Given the description of an element on the screen output the (x, y) to click on. 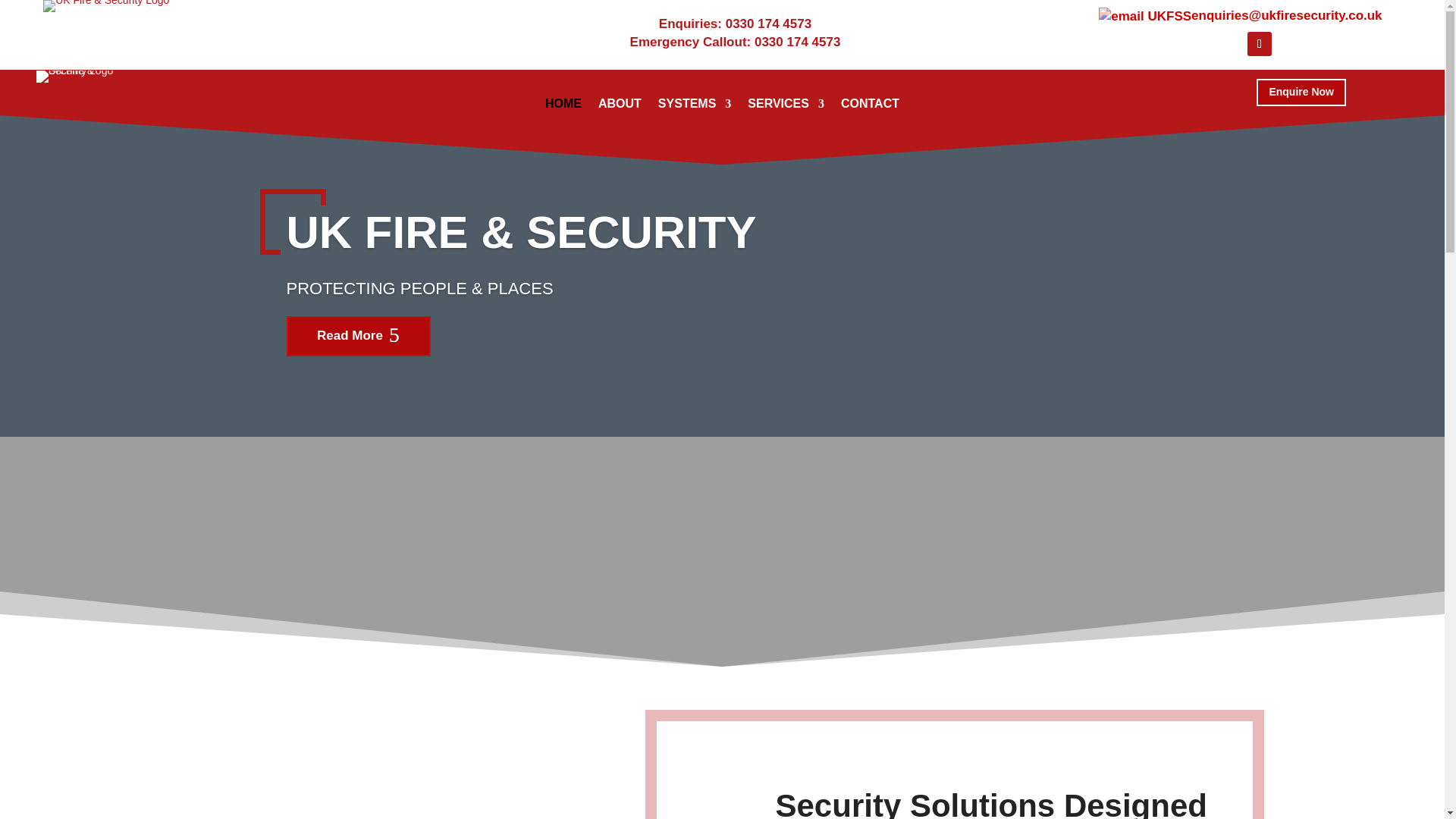
Enquire Now (1300, 92)
Enquiries: 0330 174 4573 (734, 23)
Emergency Callout: 0330 174 4573 (735, 42)
SERVICES (786, 106)
Read More (358, 375)
UKFS-logo (105, 6)
UKFS-logo (85, 76)
HOME (562, 106)
CONTACT (870, 106)
ABOUT (620, 106)
SYSTEMS (694, 106)
Follow on LinkedIn (1259, 43)
